Given the description of an element on the screen output the (x, y) to click on. 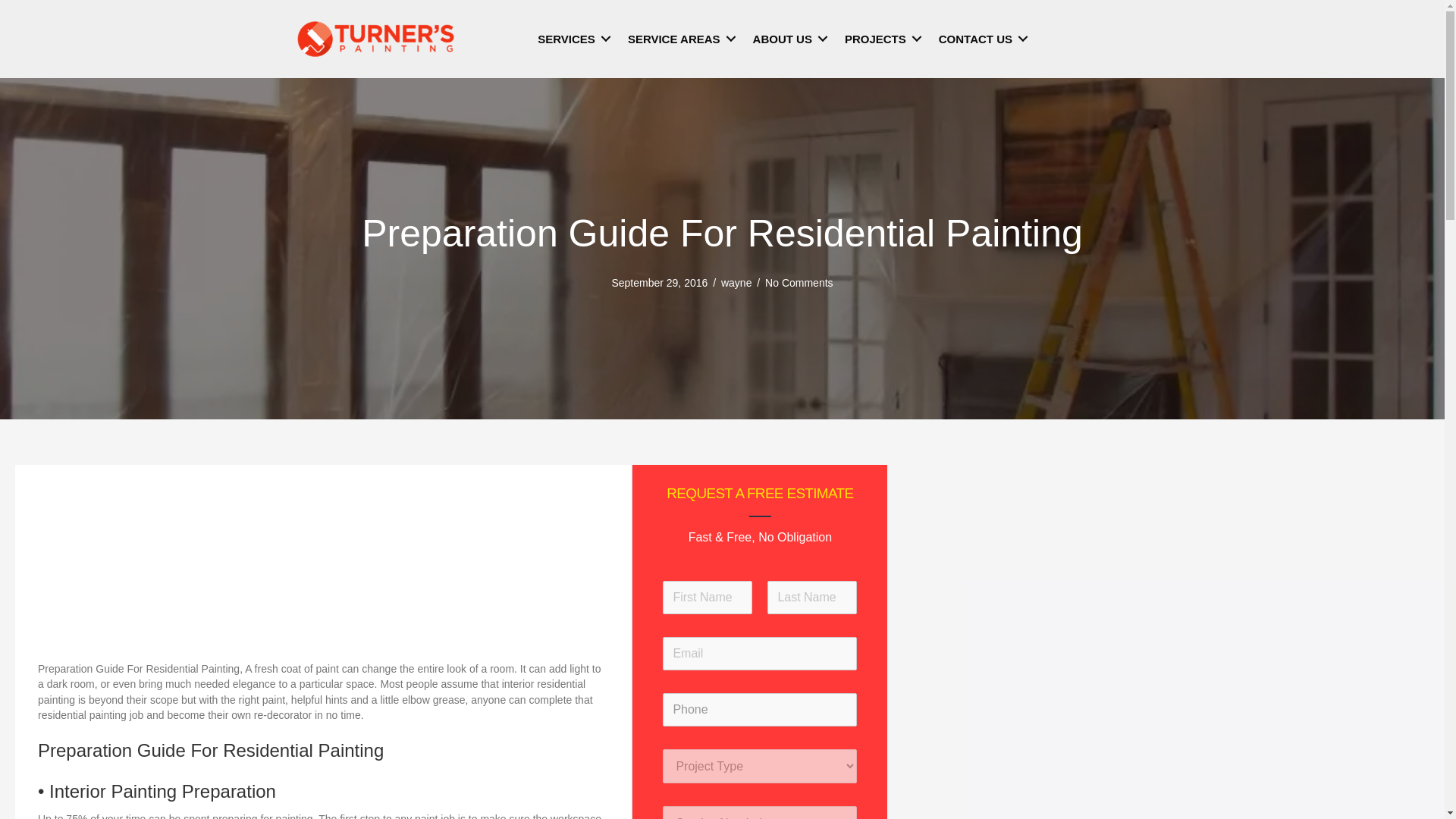
Phone (759, 709)
SERVICES (571, 39)
Advertisement (322, 558)
